Given the description of an element on the screen output the (x, y) to click on. 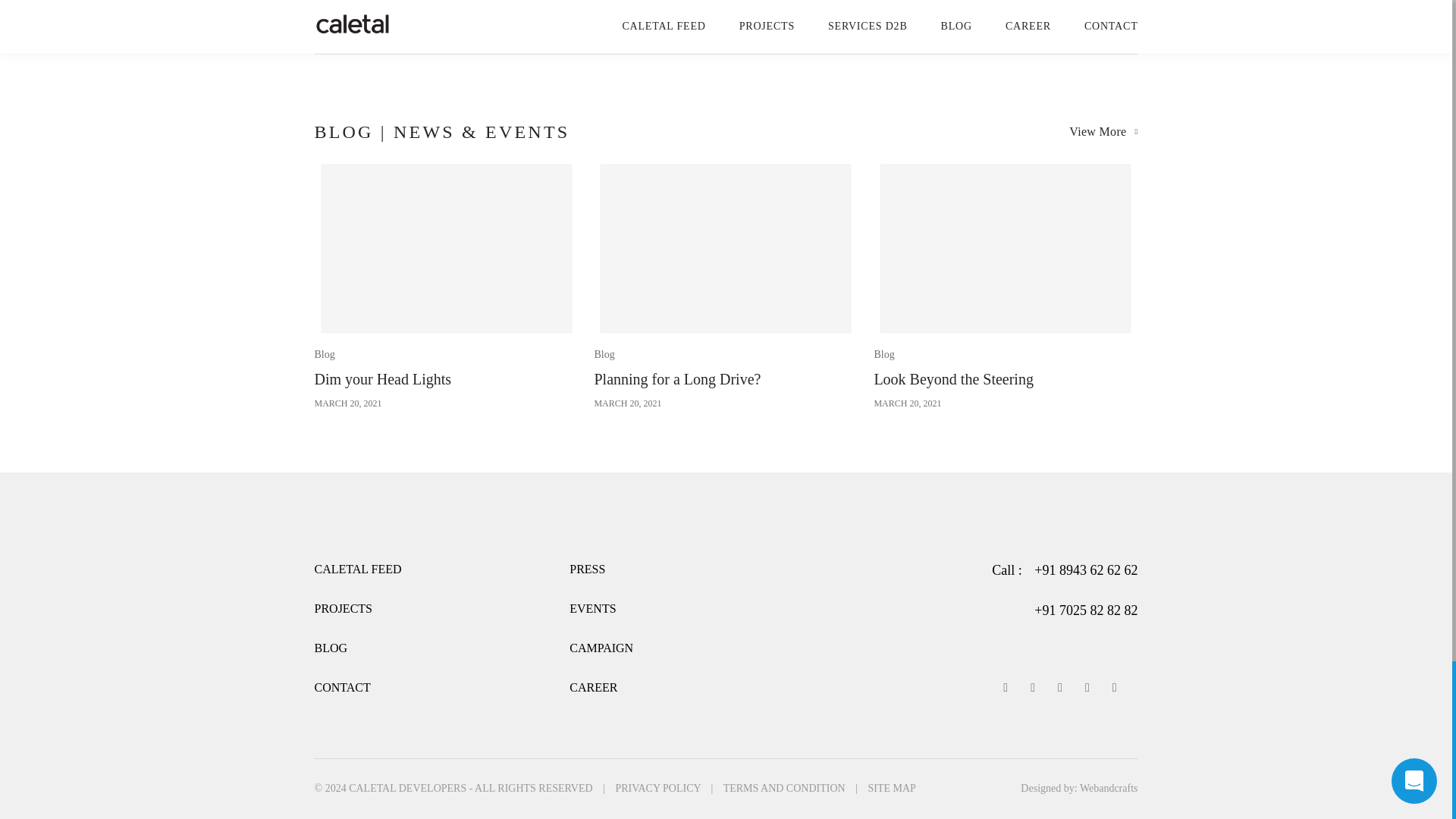
PROJECTS (725, 285)
CAREER (446, 285)
CALETAL FEED (342, 608)
CONTACT (593, 686)
CAMPAIGN (357, 568)
BLOG (341, 686)
View More (601, 647)
EVENTS (330, 647)
